Given the description of an element on the screen output the (x, y) to click on. 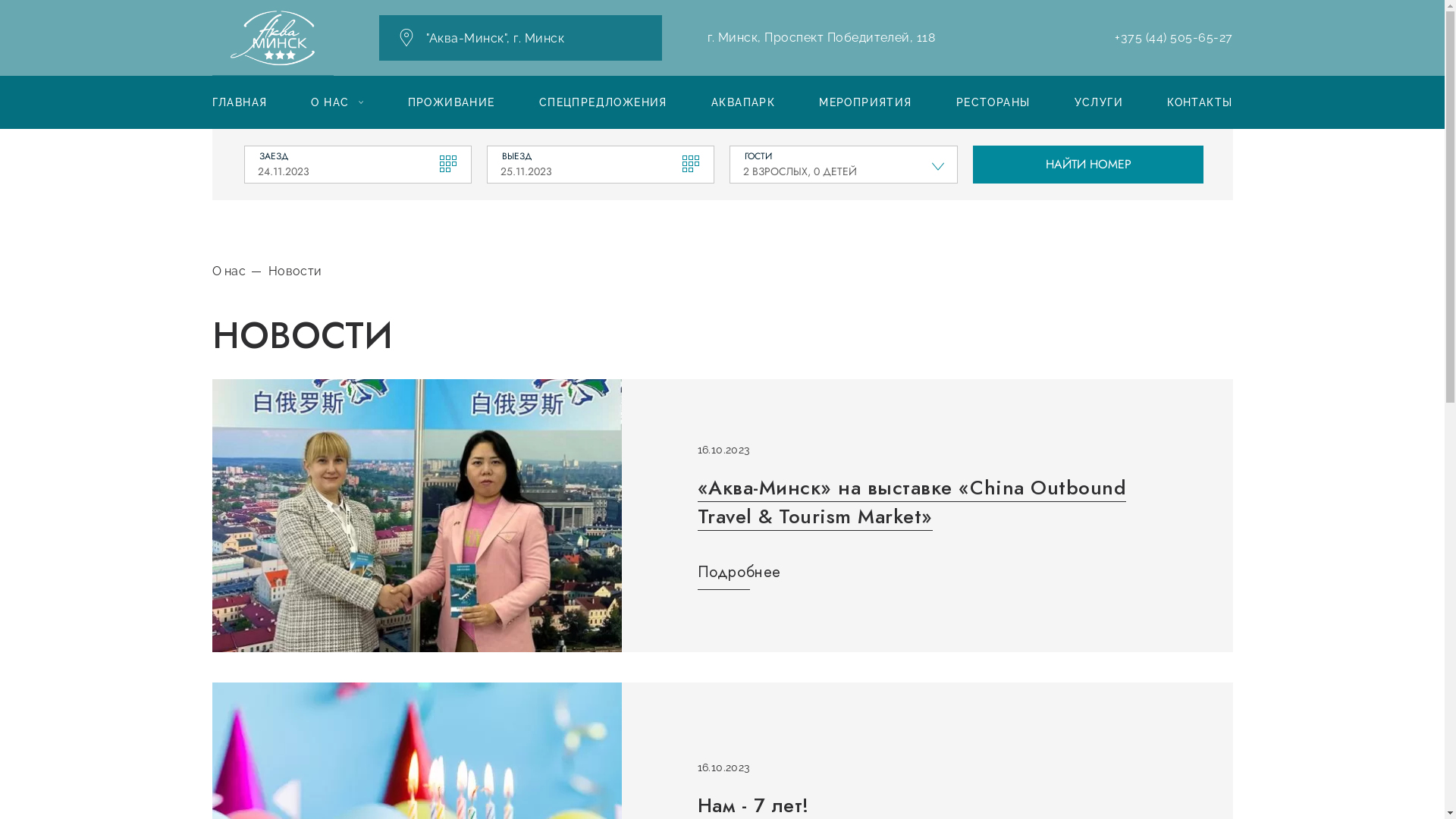
+375 (44) 505-65-27 Element type: text (1173, 38)
